Given the description of an element on the screen output the (x, y) to click on. 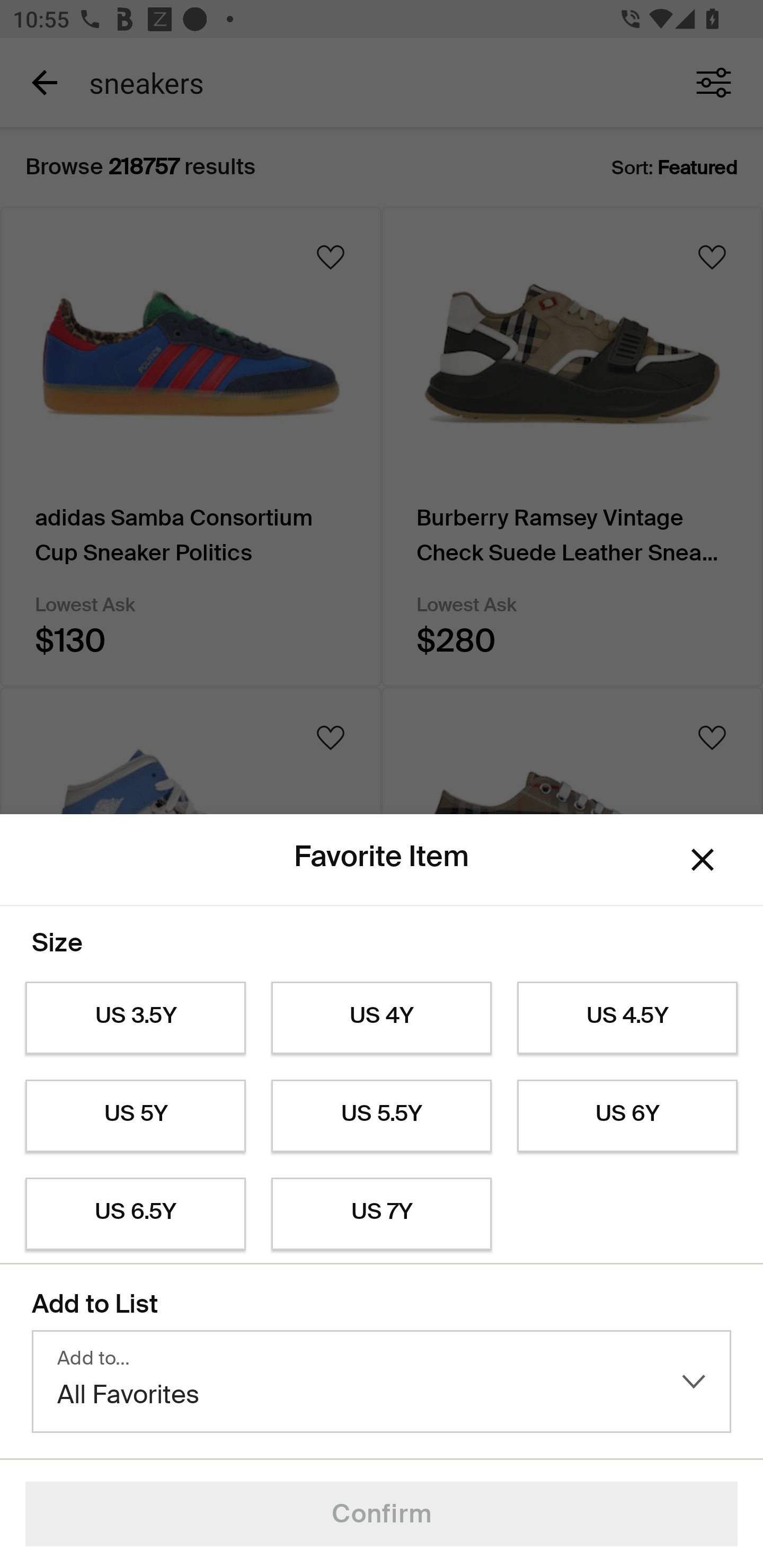
Dismiss (702, 859)
US 3.5Y (135, 1018)
US 4Y (381, 1018)
US 4.5Y (627, 1018)
US 5Y (135, 1116)
US 5.5Y (381, 1116)
US 6Y (627, 1116)
US 6.5Y (135, 1214)
US 7Y (381, 1214)
Add to… All Favorites (381, 1381)
Confirm (381, 1513)
